Given the description of an element on the screen output the (x, y) to click on. 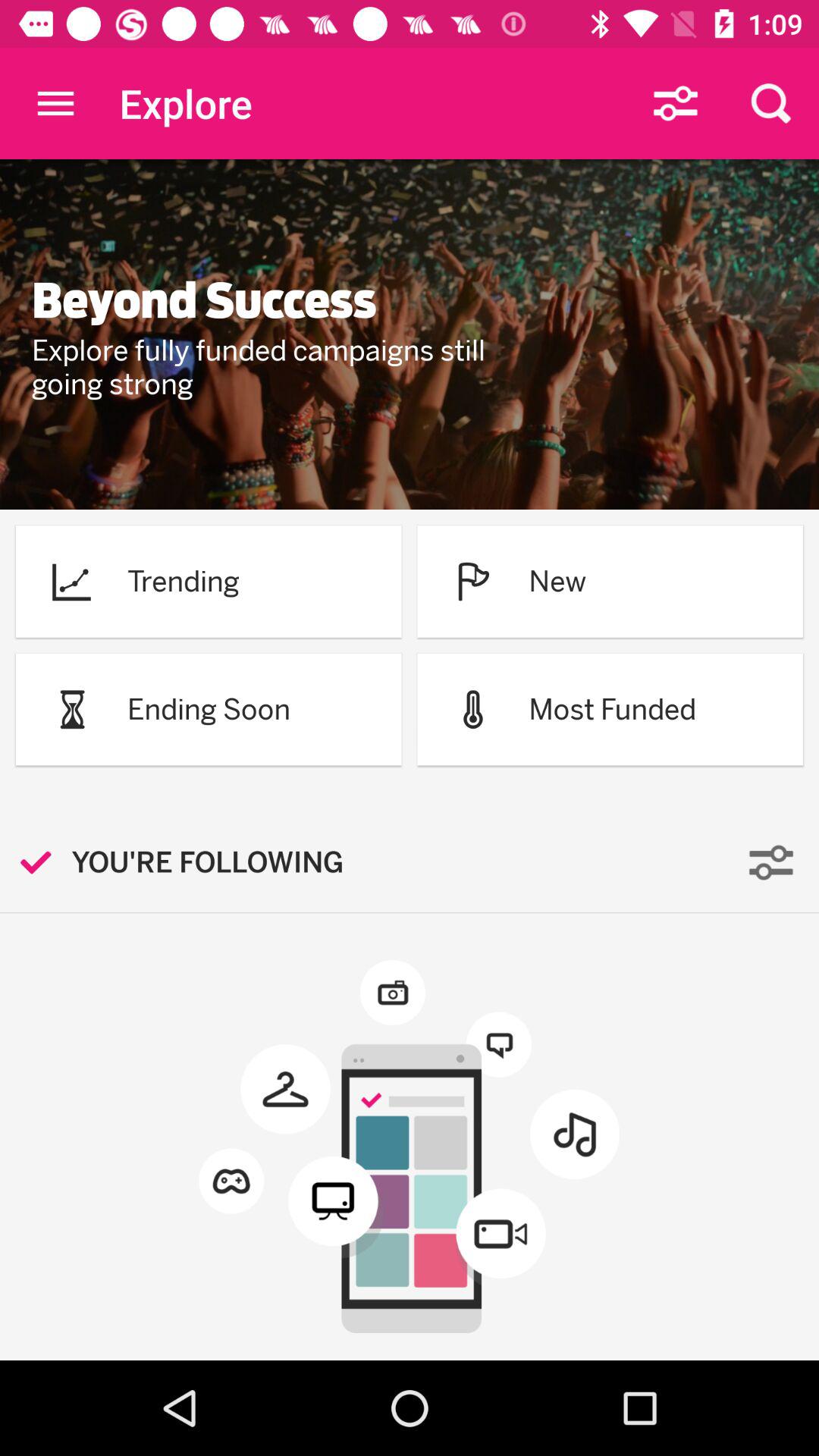
select the app next to the explore (55, 103)
